Given the description of an element on the screen output the (x, y) to click on. 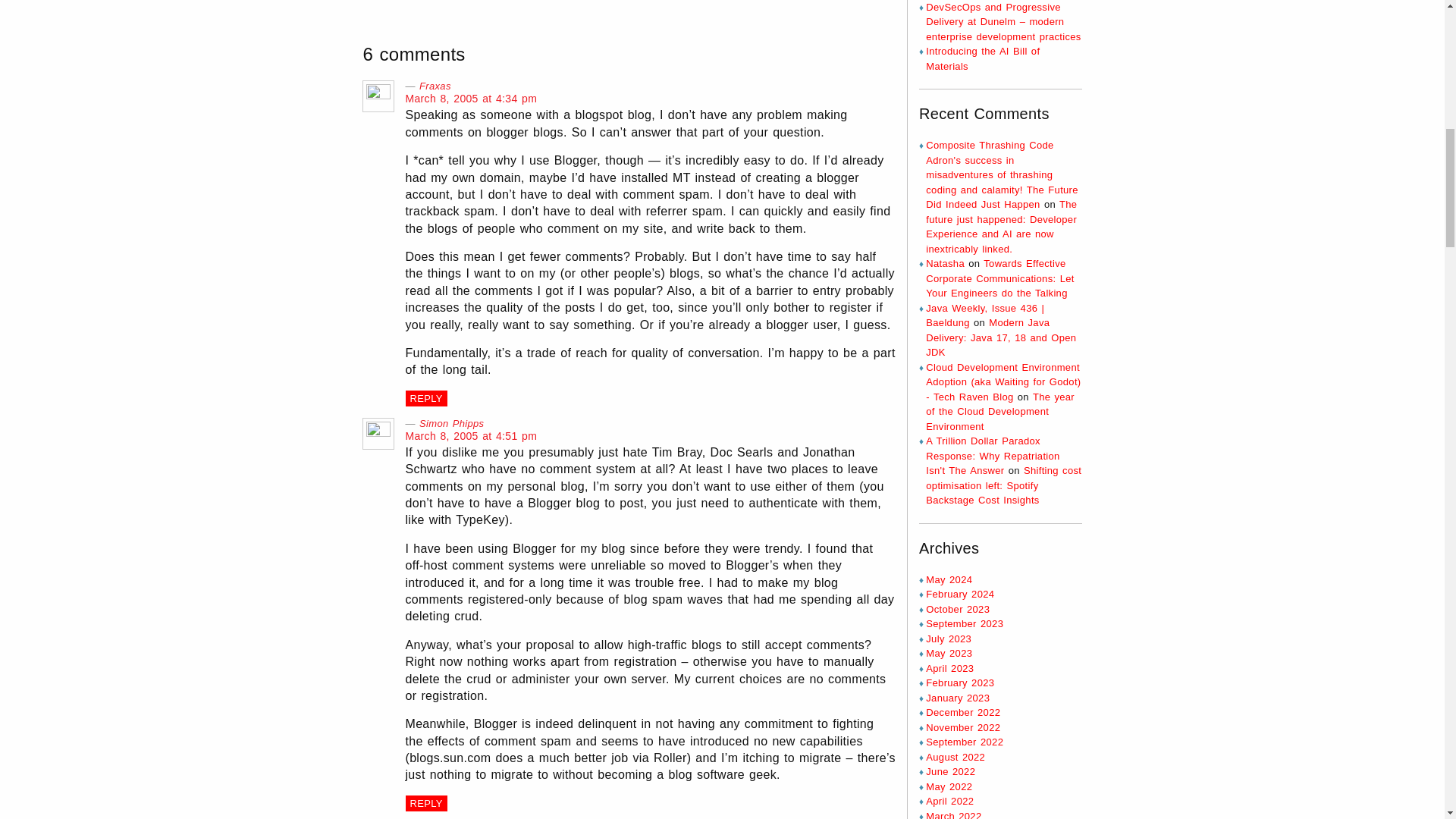
March 8, 2005 at 4:51 pm (470, 435)
Fraxas (435, 85)
REPLY (425, 398)
Simon Phipps (451, 423)
March 8, 2005 at 4:34 pm (470, 98)
REPLY (425, 803)
